Given the description of an element on the screen output the (x, y) to click on. 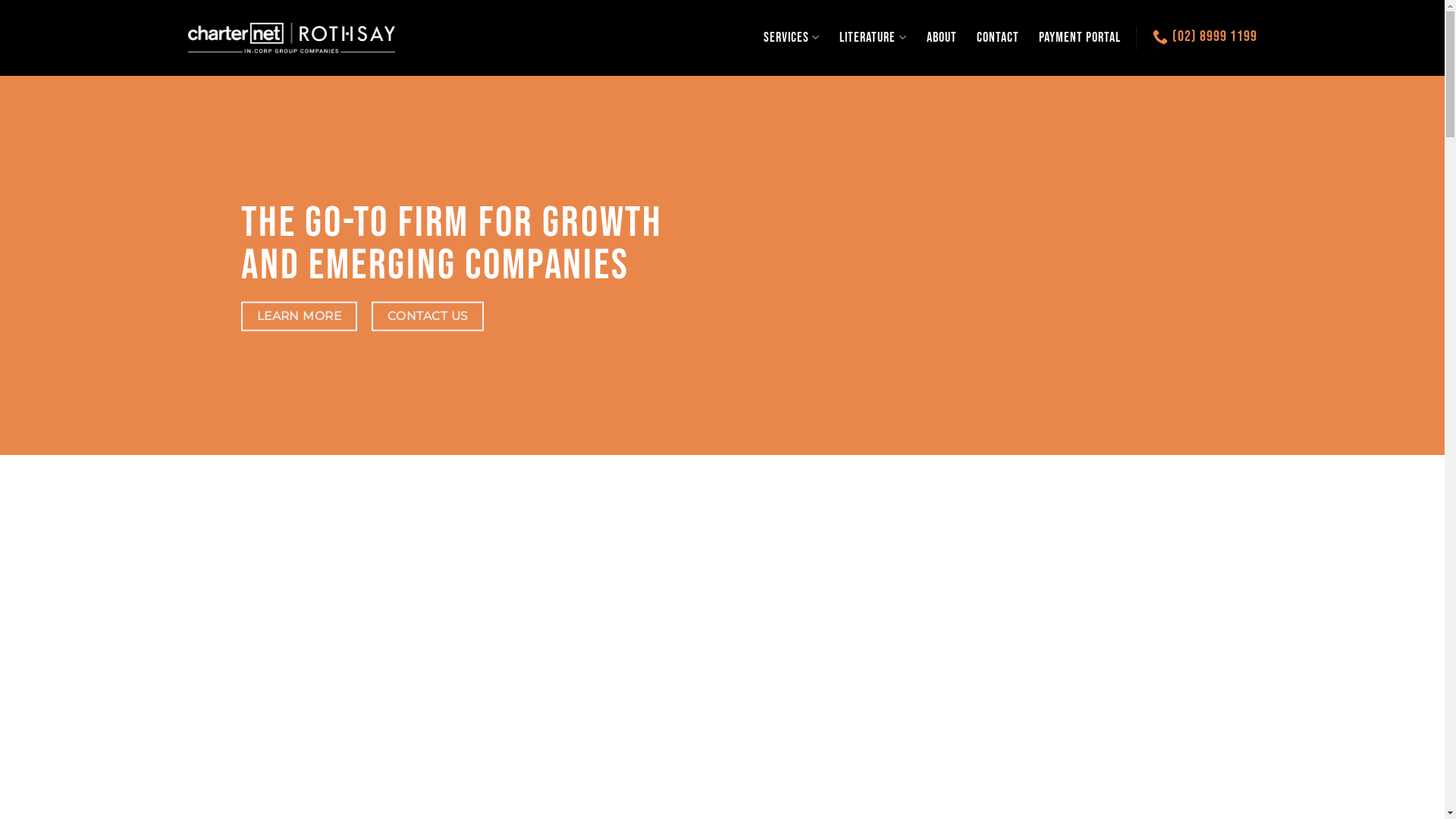
(02) 8999 1199 Element type: text (1204, 36)
LEARN MORE Element type: text (299, 316)
LITERATURE Element type: text (872, 37)
CONTACT US Element type: text (427, 316)
ABOUT Element type: text (941, 37)
SERVICES Element type: text (791, 37)
CONTACT Element type: text (997, 37)
PAYMENT PORTAL Element type: text (1079, 37)
